Given the description of an element on the screen output the (x, y) to click on. 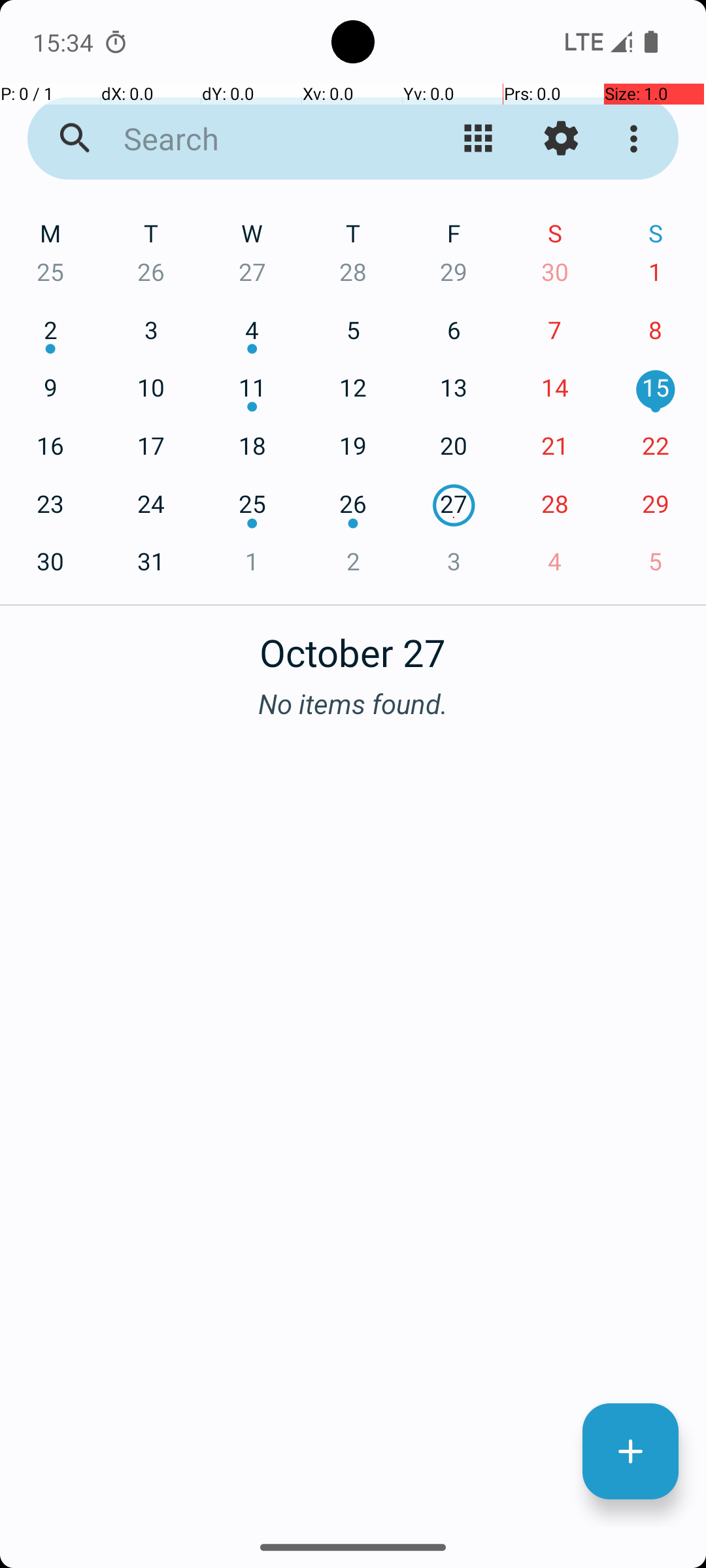
October 27 Element type: android.widget.TextView (352, 644)
